Given the description of an element on the screen output the (x, y) to click on. 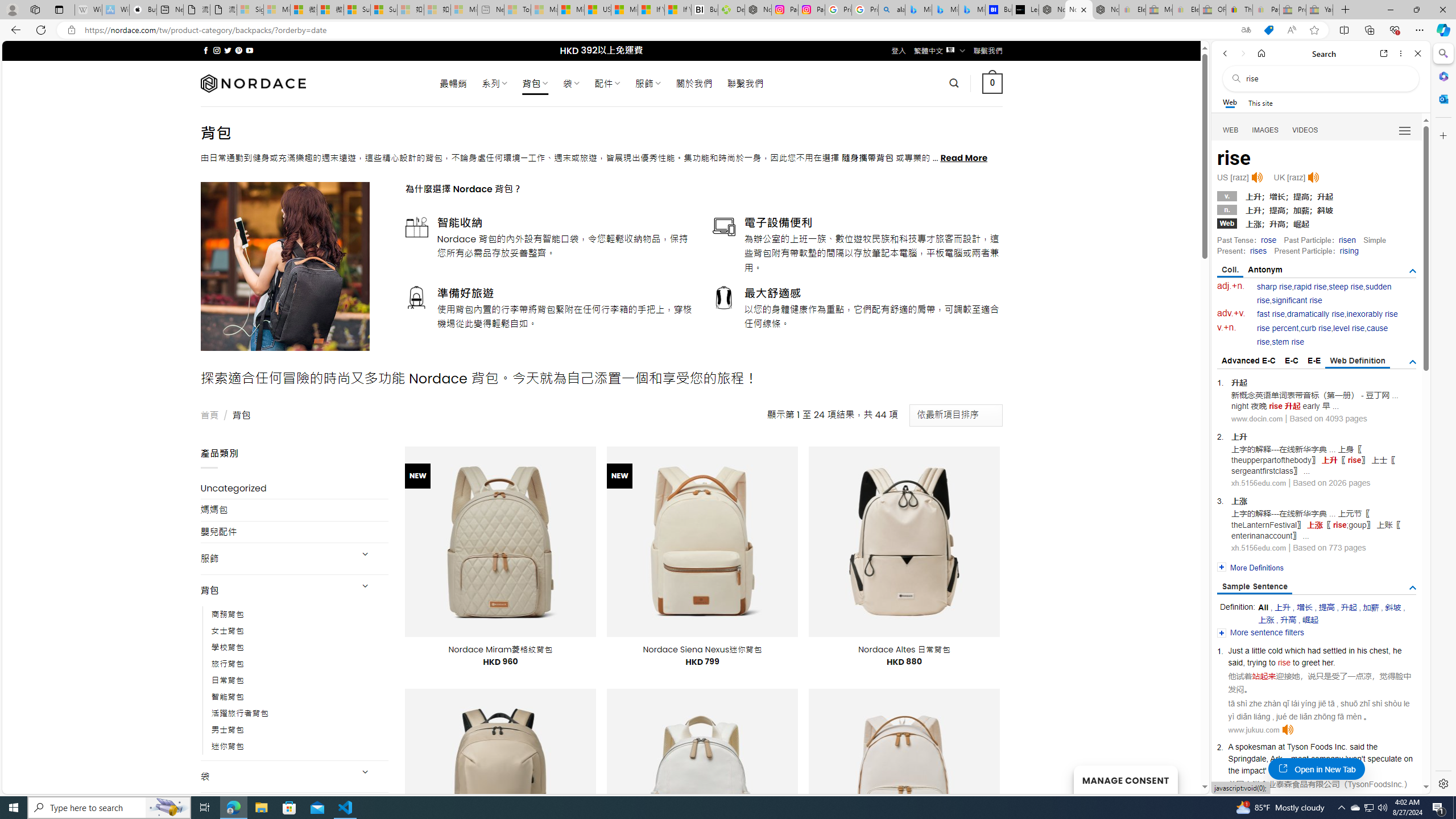
cause rise (1322, 335)
yuan (1292, 770)
Uncategorized (294, 488)
risen (1347, 239)
AutomationID: tgdef_sen (1412, 587)
dramatically rise (1315, 313)
